Given the description of an element on the screen output the (x, y) to click on. 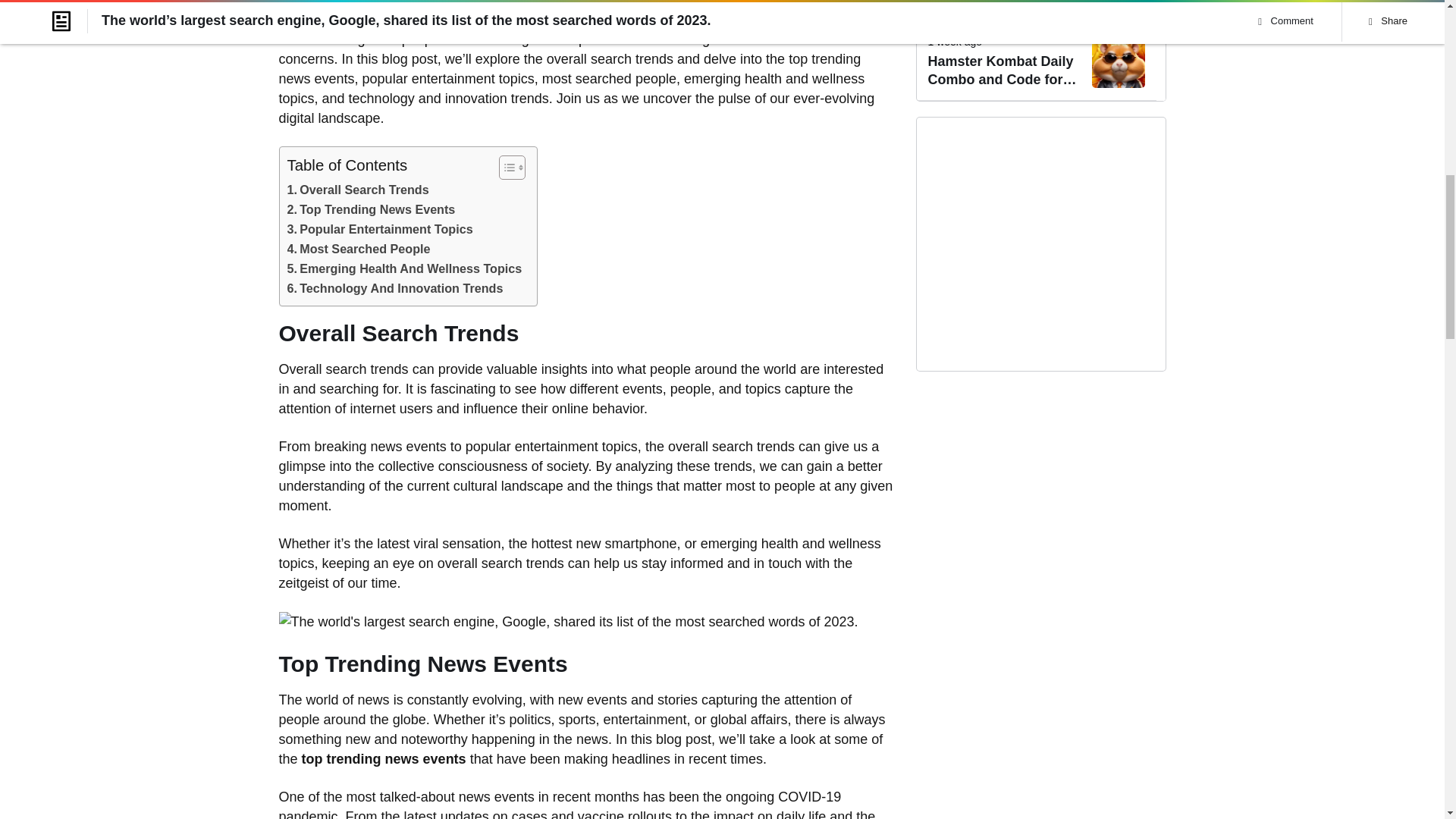
Overall Search Trends (357, 189)
Top Trending News Events (370, 209)
Popular Entertainment Topics (378, 229)
